Given the description of an element on the screen output the (x, y) to click on. 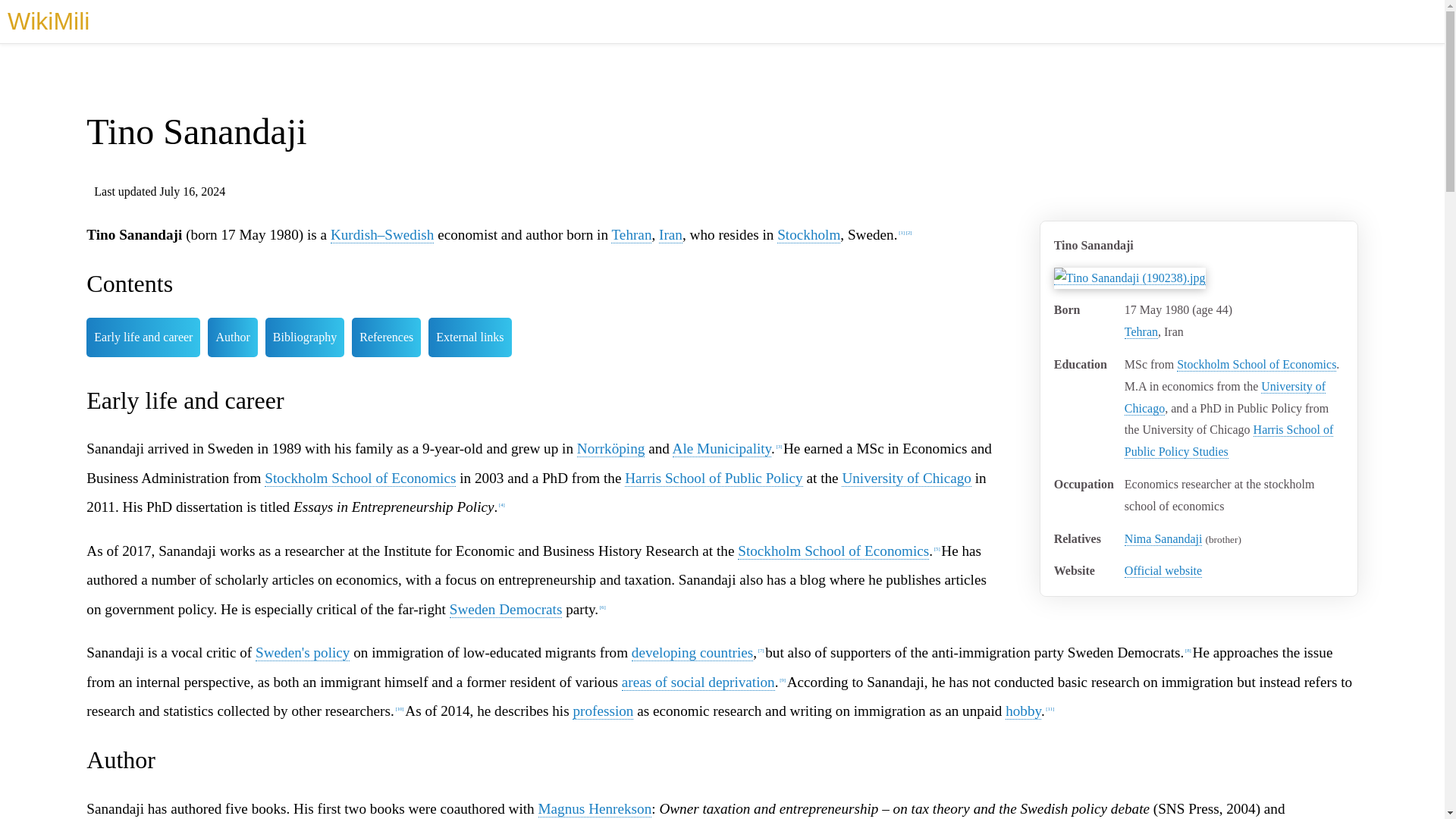
University of Chicago (1224, 397)
Harris School of Public Policy (713, 478)
Ale Municipality (721, 448)
Nima Sanandaji (1163, 539)
Bibliography (303, 337)
Stockholm School of Economics (359, 478)
Sweden Democrats (505, 609)
Sweden's policy (302, 652)
University of Chicago (1224, 397)
Nima Sanandaji (1163, 539)
Developing countries (691, 652)
Author (232, 337)
University of Chicago (906, 478)
Iran (670, 234)
Tehran (630, 234)
